Given the description of an element on the screen output the (x, y) to click on. 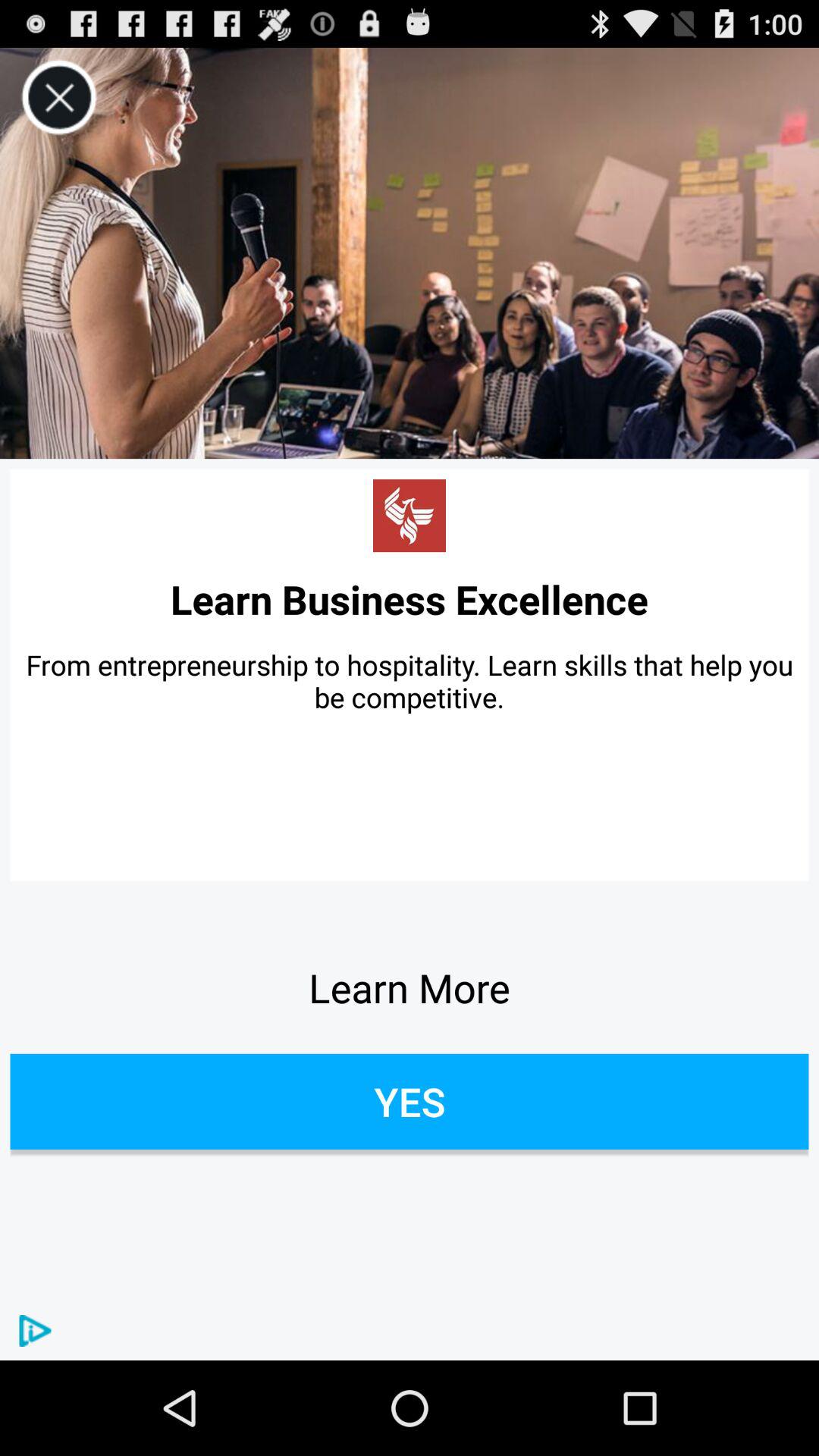
choose the icon below learn business excellence icon (409, 680)
